Given the description of an element on the screen output the (x, y) to click on. 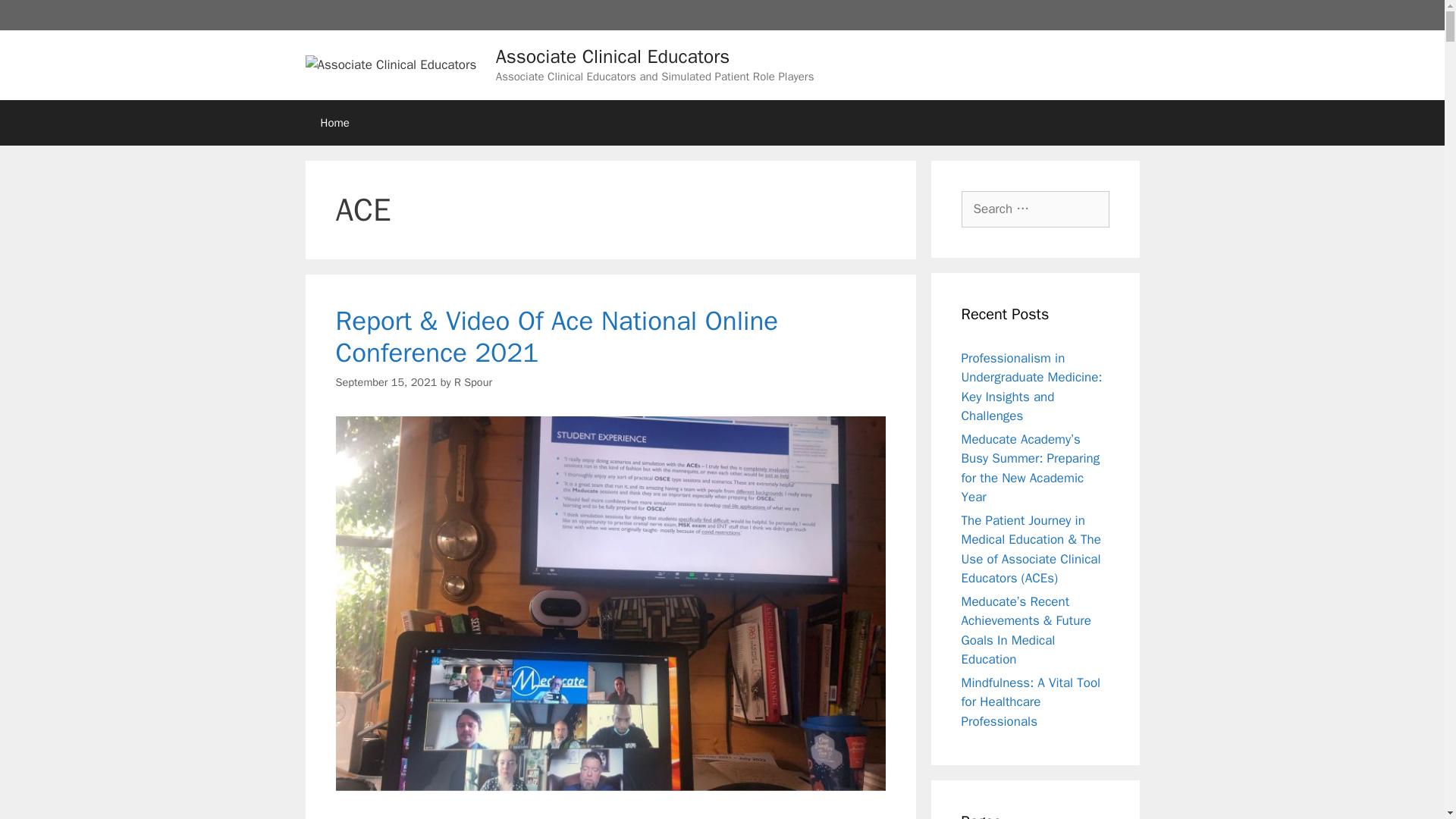
Associate Clinical Educators (613, 55)
Home (334, 122)
R Spour (473, 382)
View all posts by R Spour (473, 382)
